Given the description of an element on the screen output the (x, y) to click on. 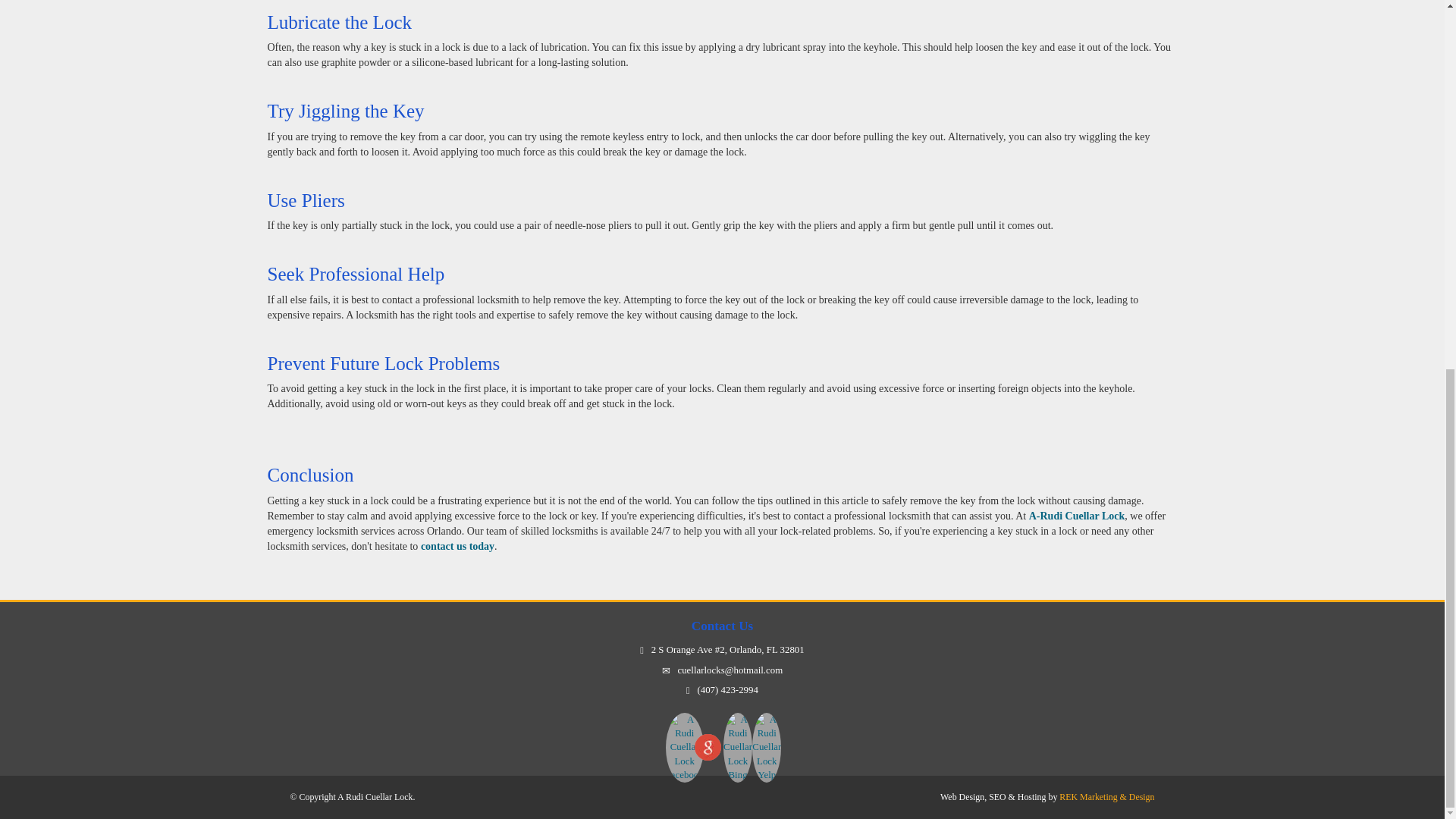
A Rudi Cuellar Lock Bing (736, 725)
A Rudi Cuellar Lock Facebook (679, 725)
A-Rudi Cuellar Lock (1077, 515)
A Rudi Cuellar Lock Google (707, 746)
contact us today (457, 546)
A Rudi Cuellar Lock Yelp (765, 725)
